Given the description of an element on the screen output the (x, y) to click on. 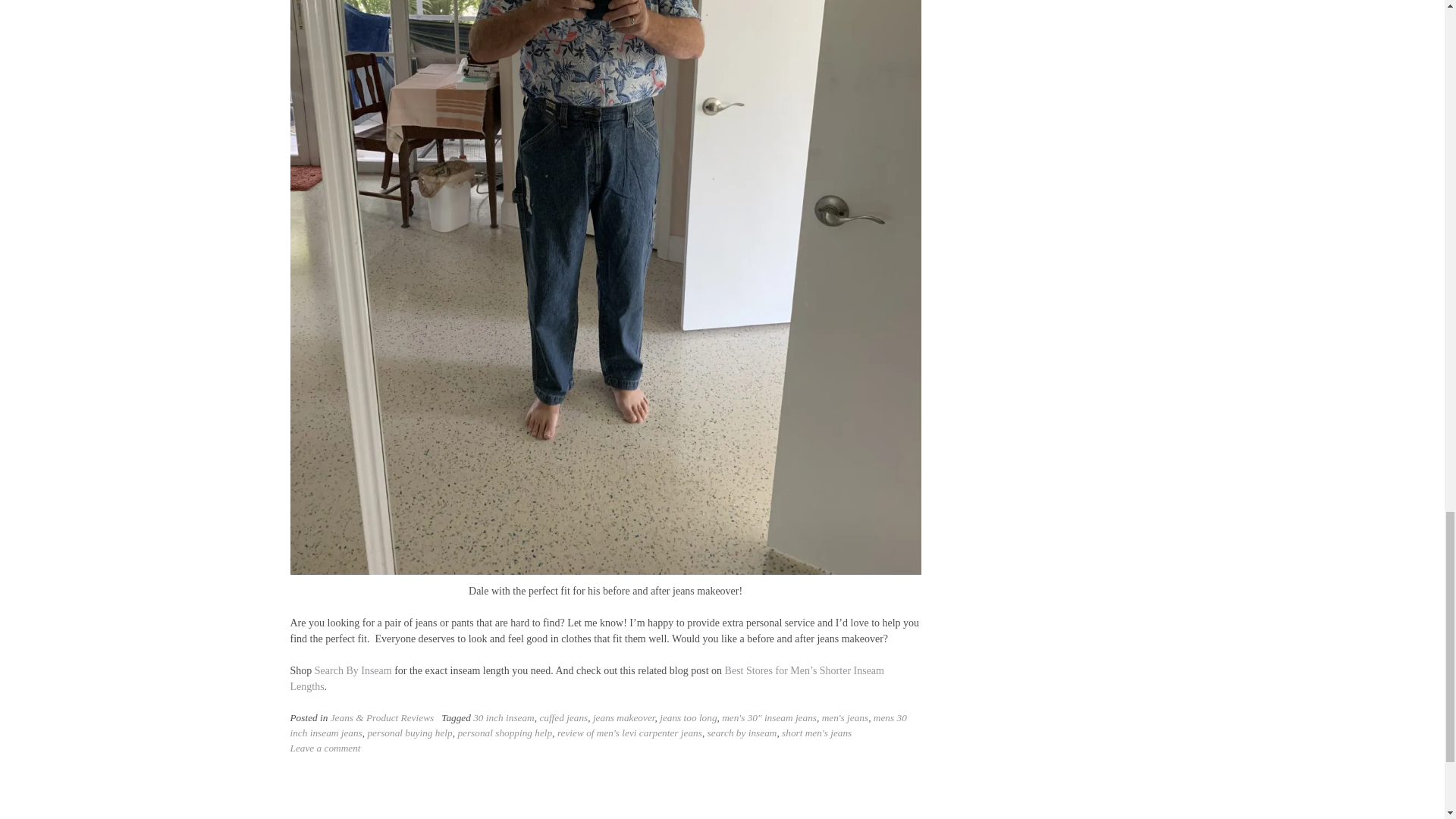
men's jeans (845, 717)
mens 30 inch inseam jeans (597, 724)
review of men's levi carpenter jeans (629, 732)
cuffed jeans (563, 717)
Leave a comment (324, 747)
men's 30" inseam jeans (769, 717)
short men's jeans (816, 732)
personal buying help (408, 732)
search by inseam (742, 732)
jeans too long (687, 717)
